Given the description of an element on the screen output the (x, y) to click on. 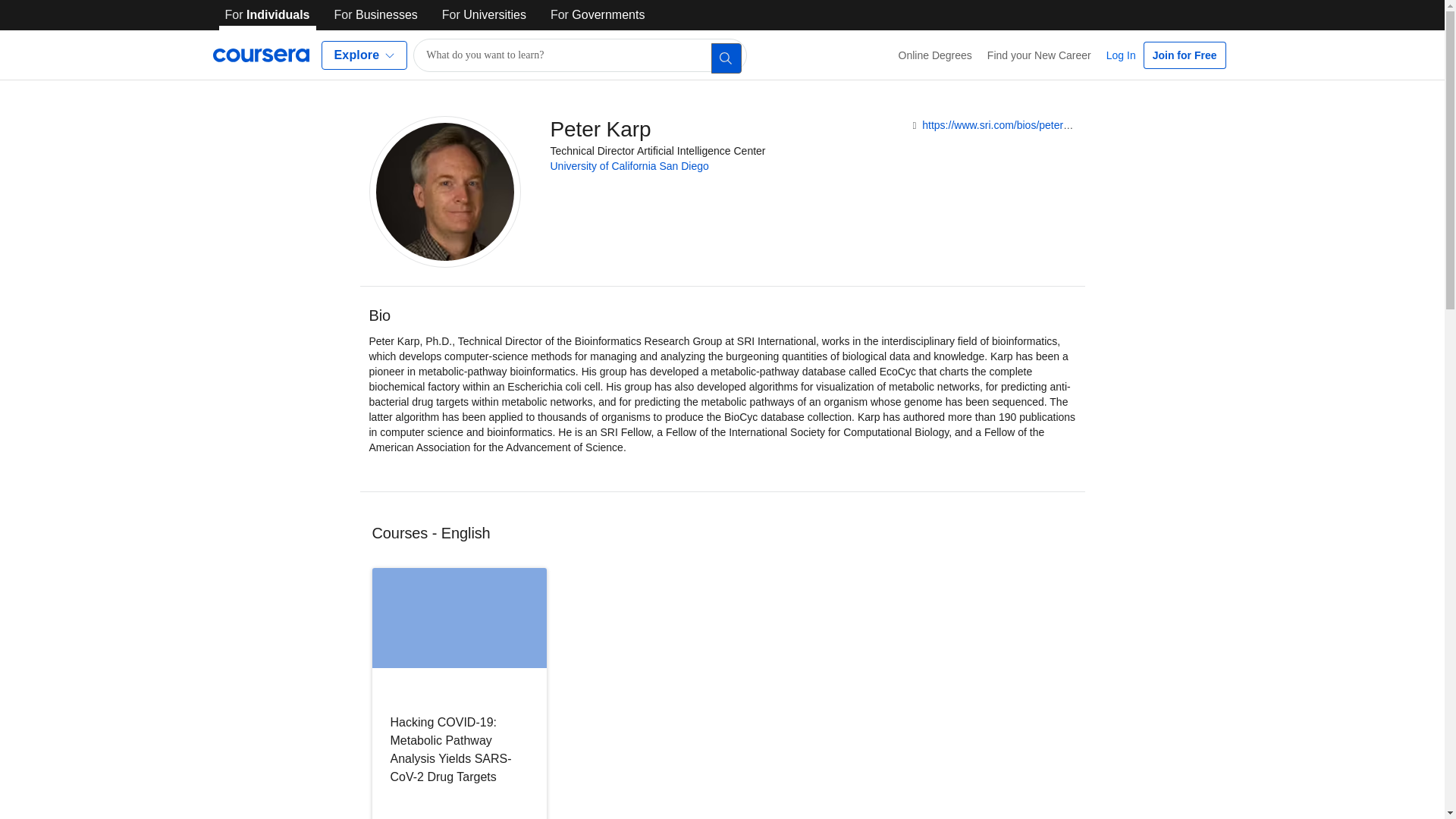
Explore (364, 54)
Online Degrees (935, 54)
University of California San Diego (629, 165)
Find your New Career (1039, 54)
For Governments (597, 15)
Join for Free (1183, 53)
For Individuals (266, 15)
For Businesses (376, 15)
Log In (1120, 54)
For Universities (483, 15)
